Given the description of an element on the screen output the (x, y) to click on. 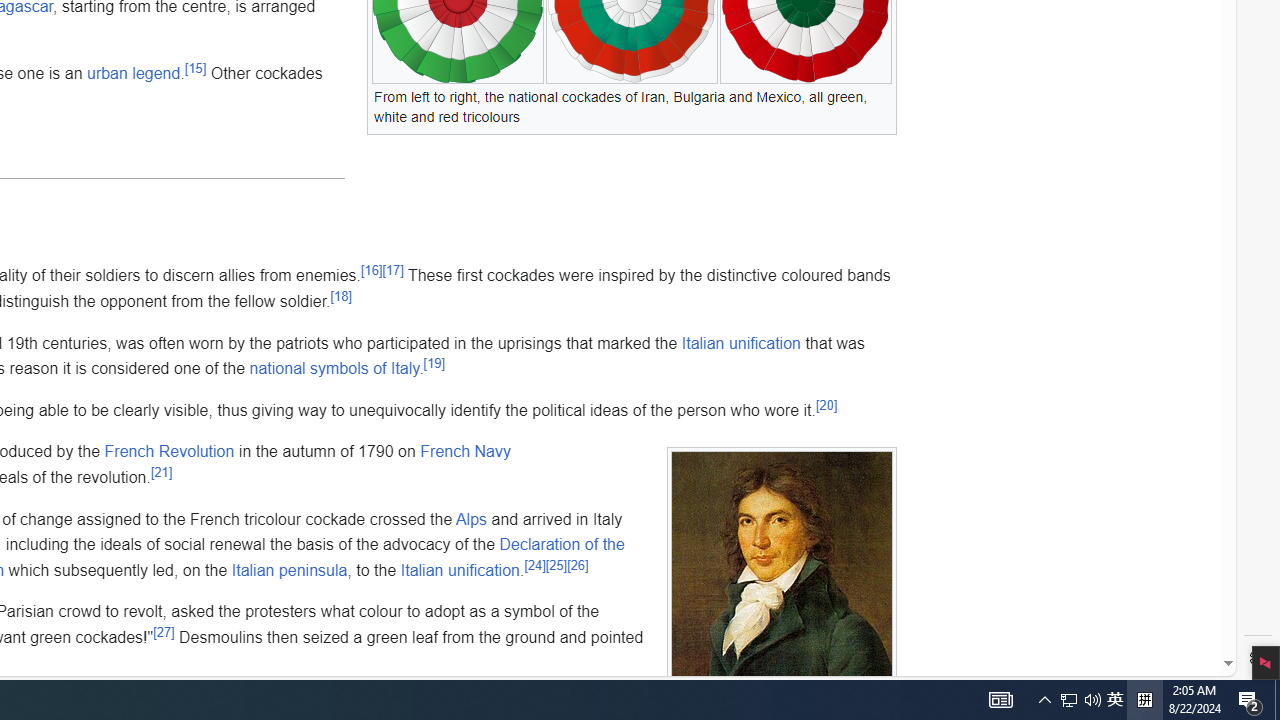
[25] (556, 565)
[27] (164, 632)
[21] (160, 471)
